Given the description of an element on the screen output the (x, y) to click on. 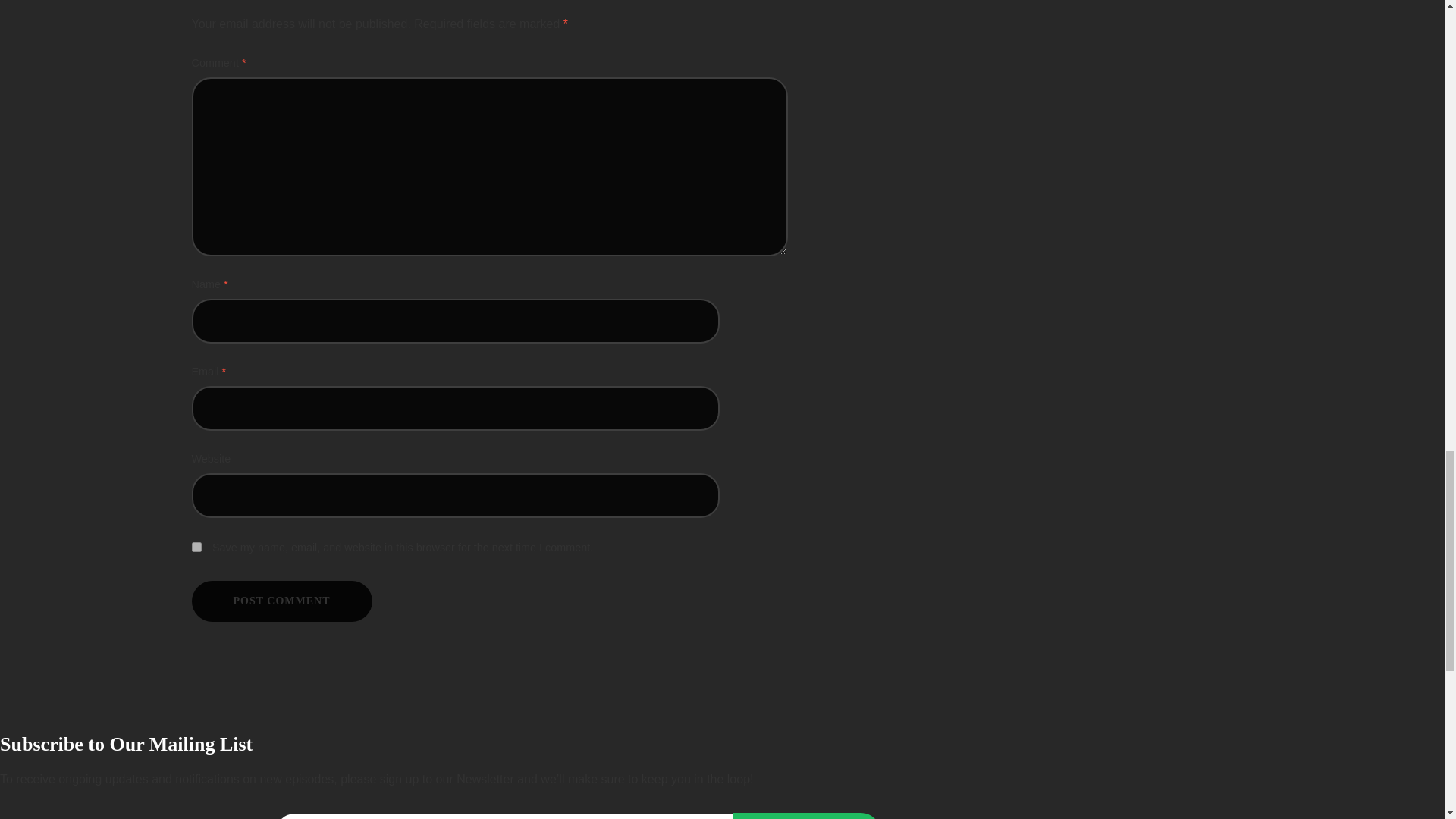
Subscribe (806, 816)
Post Comment (280, 600)
Post Comment (280, 600)
yes (195, 547)
